Given the description of an element on the screen output the (x, y) to click on. 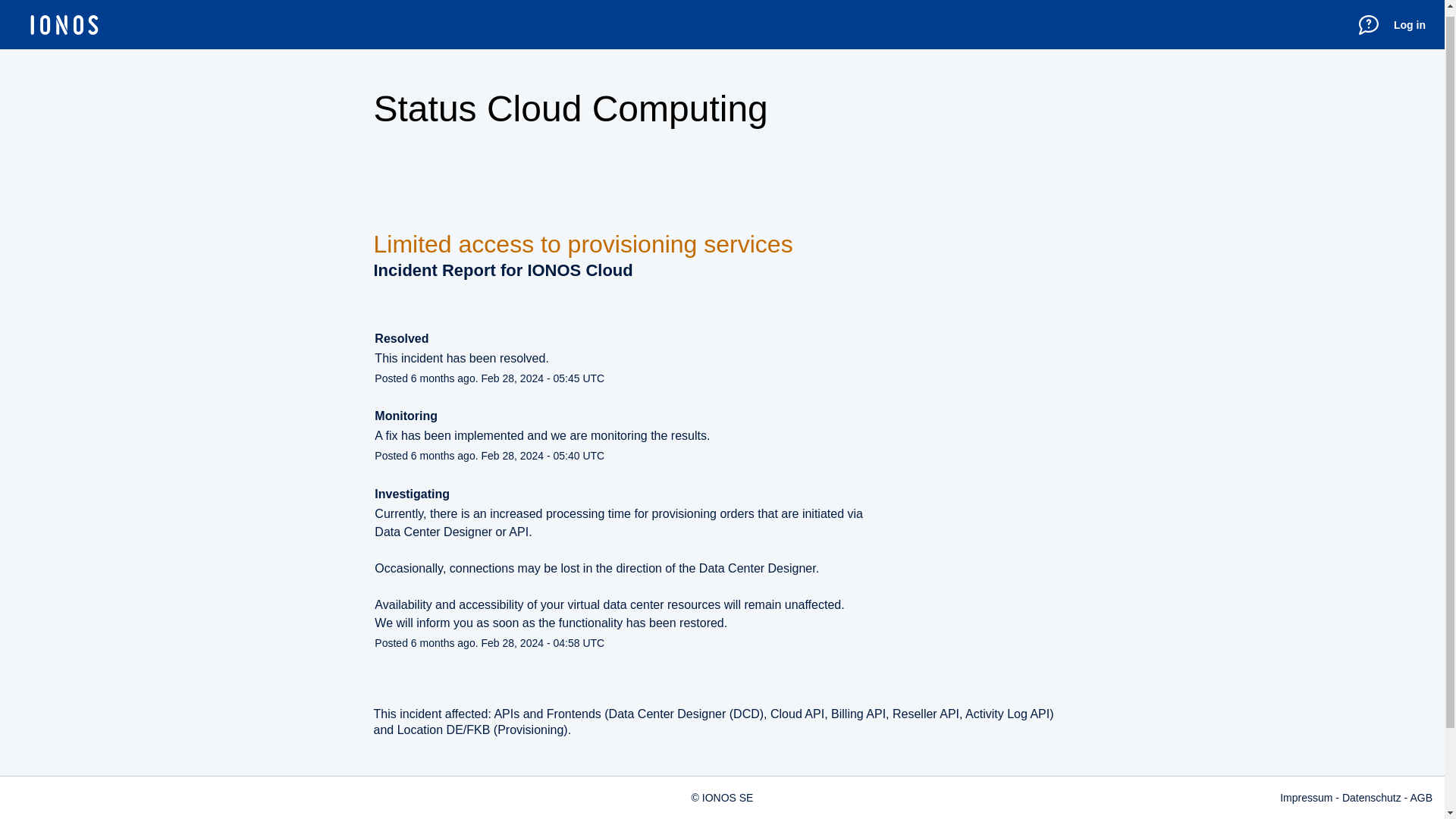
IONOS SE (727, 790)
AGB (1420, 790)
Datenschutz (1371, 790)
Current Status (421, 809)
IONOS Cloud (579, 270)
Impressum (1305, 790)
Log in (1409, 17)
Status Cloud Computing (569, 108)
Powered by Atlassian Statuspage (638, 809)
